Given the description of an element on the screen output the (x, y) to click on. 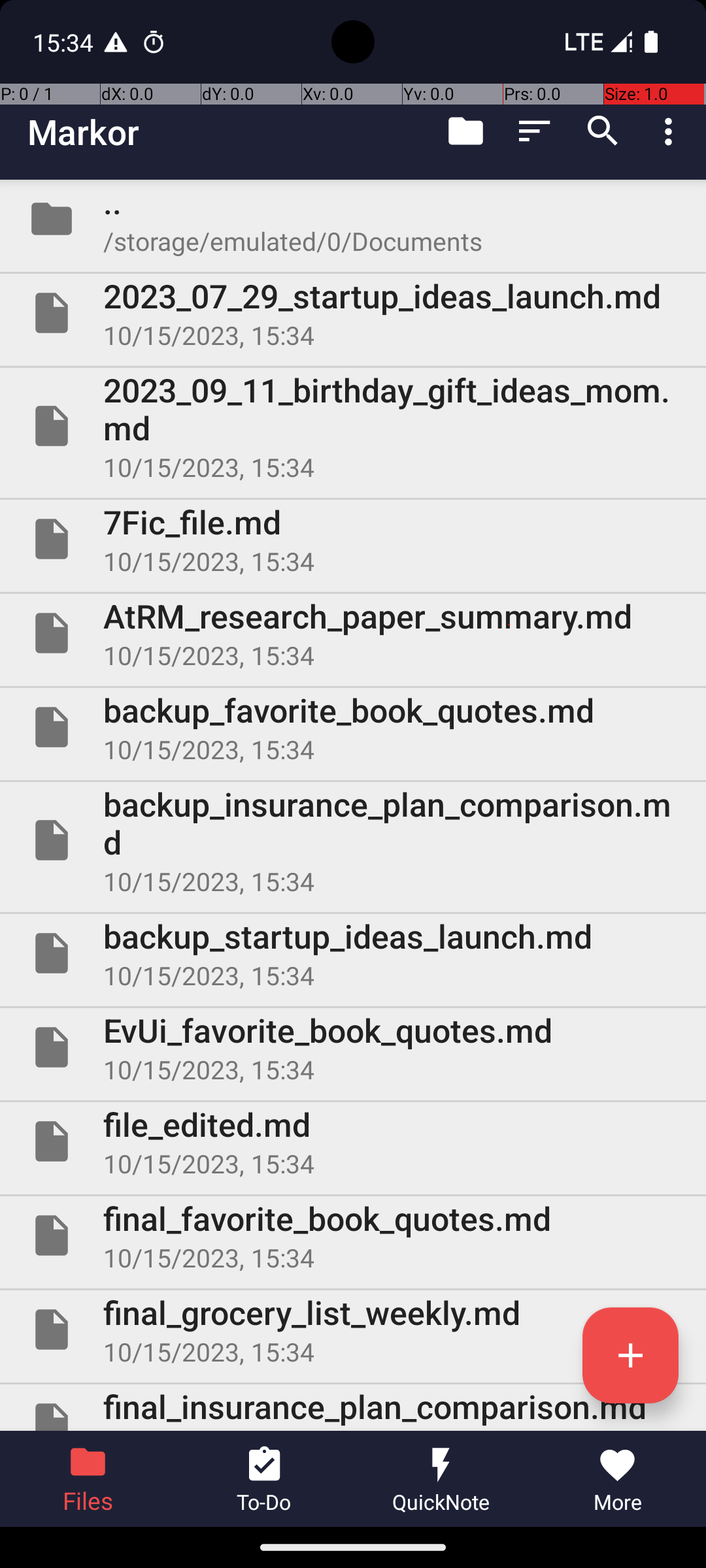
File 2023_07_29_startup_ideas_launch.md  Element type: android.widget.LinearLayout (353, 312)
File 2023_09_11_birthday_gift_ideas_mom.md  Element type: android.widget.LinearLayout (353, 425)
File 7Fic_file.md  Element type: android.widget.LinearLayout (353, 538)
File AtRM_research_paper_summary.md  Element type: android.widget.LinearLayout (353, 632)
File backup_favorite_book_quotes.md  Element type: android.widget.LinearLayout (353, 726)
File backup_insurance_plan_comparison.md  Element type: android.widget.LinearLayout (353, 840)
File backup_startup_ideas_launch.md  Element type: android.widget.LinearLayout (353, 953)
File EvUi_favorite_book_quotes.md  Element type: android.widget.LinearLayout (353, 1047)
File file_edited.md  Element type: android.widget.LinearLayout (353, 1141)
File final_favorite_book_quotes.md  Element type: android.widget.LinearLayout (353, 1235)
File final_grocery_list_weekly.md  Element type: android.widget.LinearLayout (353, 1329)
File final_insurance_plan_comparison.md  Element type: android.widget.LinearLayout (353, 1407)
